Given the description of an element on the screen output the (x, y) to click on. 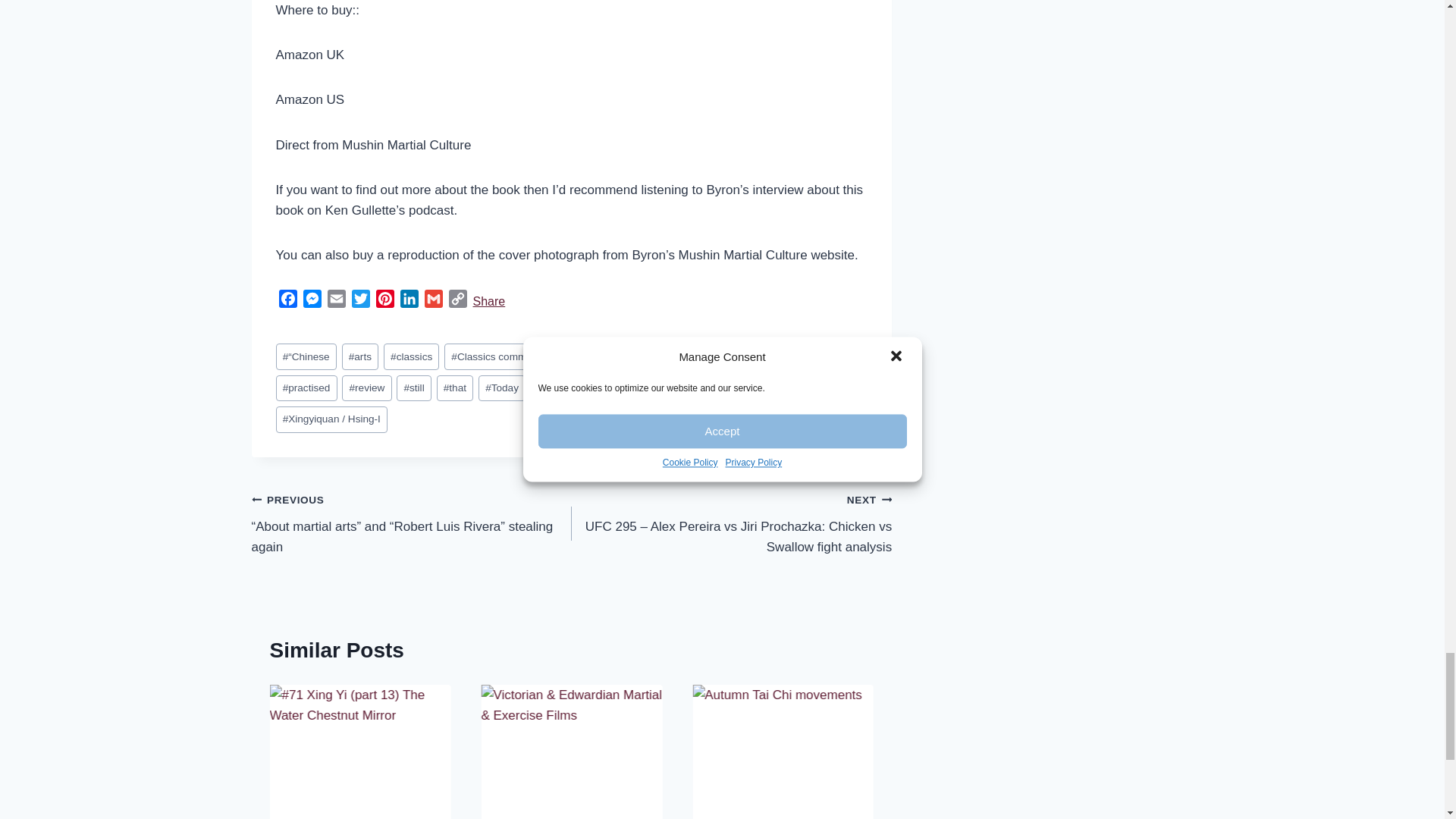
Twitter (360, 300)
Pinterest (384, 300)
Email (336, 300)
Facebook (287, 300)
Messenger (311, 300)
LinkedIn (409, 300)
